Given the description of an element on the screen output the (x, y) to click on. 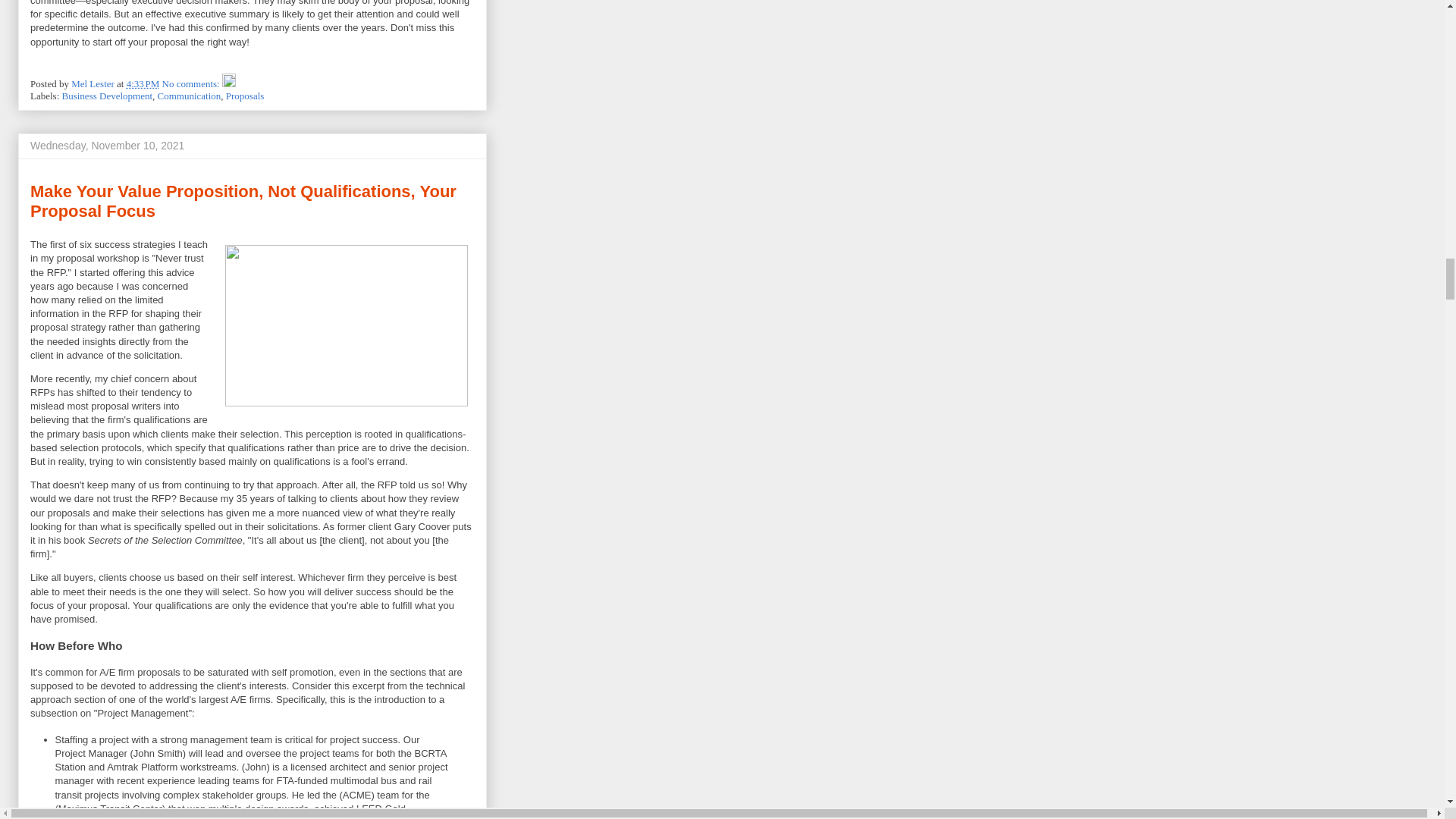
permanent link (143, 83)
author profile (93, 83)
Edit Post (228, 83)
